Given the description of an element on the screen output the (x, y) to click on. 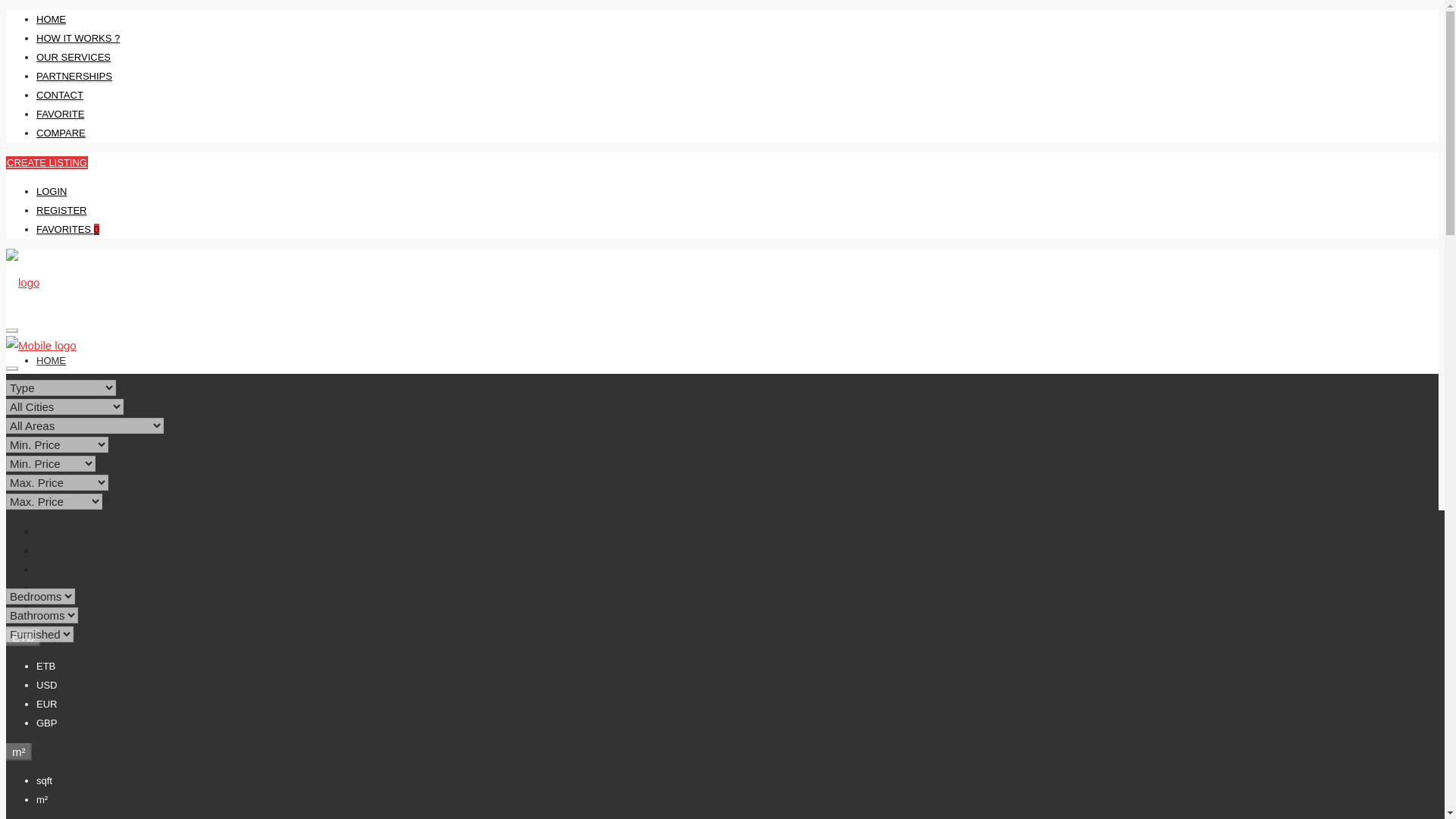
HOW IT WORKS ? (77, 38)
Building for rent (76, 756)
air-condition (13, 690)
Min. Price (50, 463)
All Cities (64, 406)
LOGIN (51, 191)
water-tank (725, 690)
PARTNERSHIPS (74, 564)
Bedrooms (40, 596)
elevator (144, 690)
PARTNERSHIPS (74, 76)
HOME (50, 360)
Furnished (39, 634)
All Areas (84, 425)
Bathrooms (41, 615)
